Given the description of an element on the screen output the (x, y) to click on. 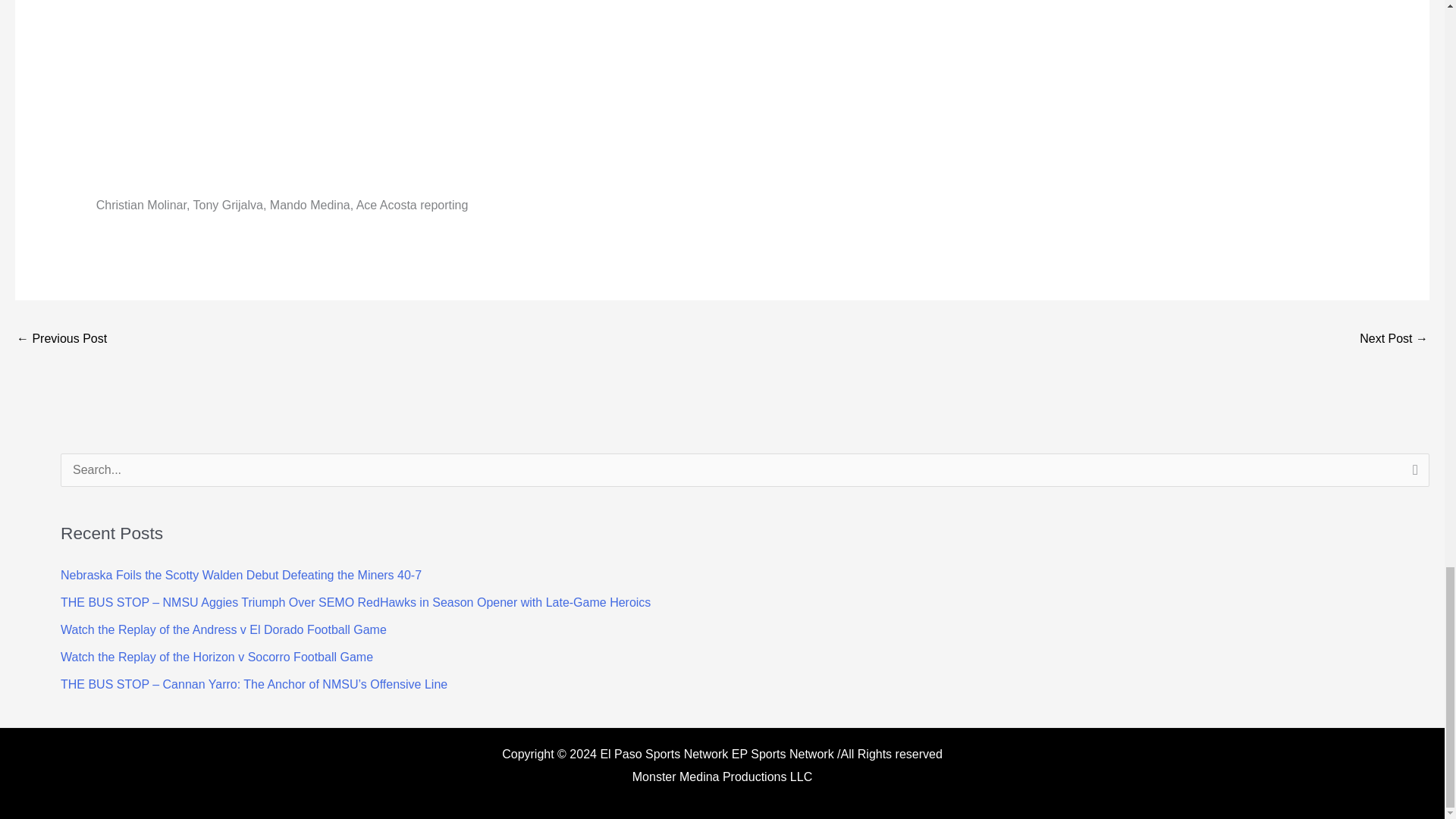
Riverside Dominates Fabens 59-12 (1393, 339)
Franklin Blanks Socorro 51-0 (61, 339)
YouTube video player (308, 93)
